Given the description of an element on the screen output the (x, y) to click on. 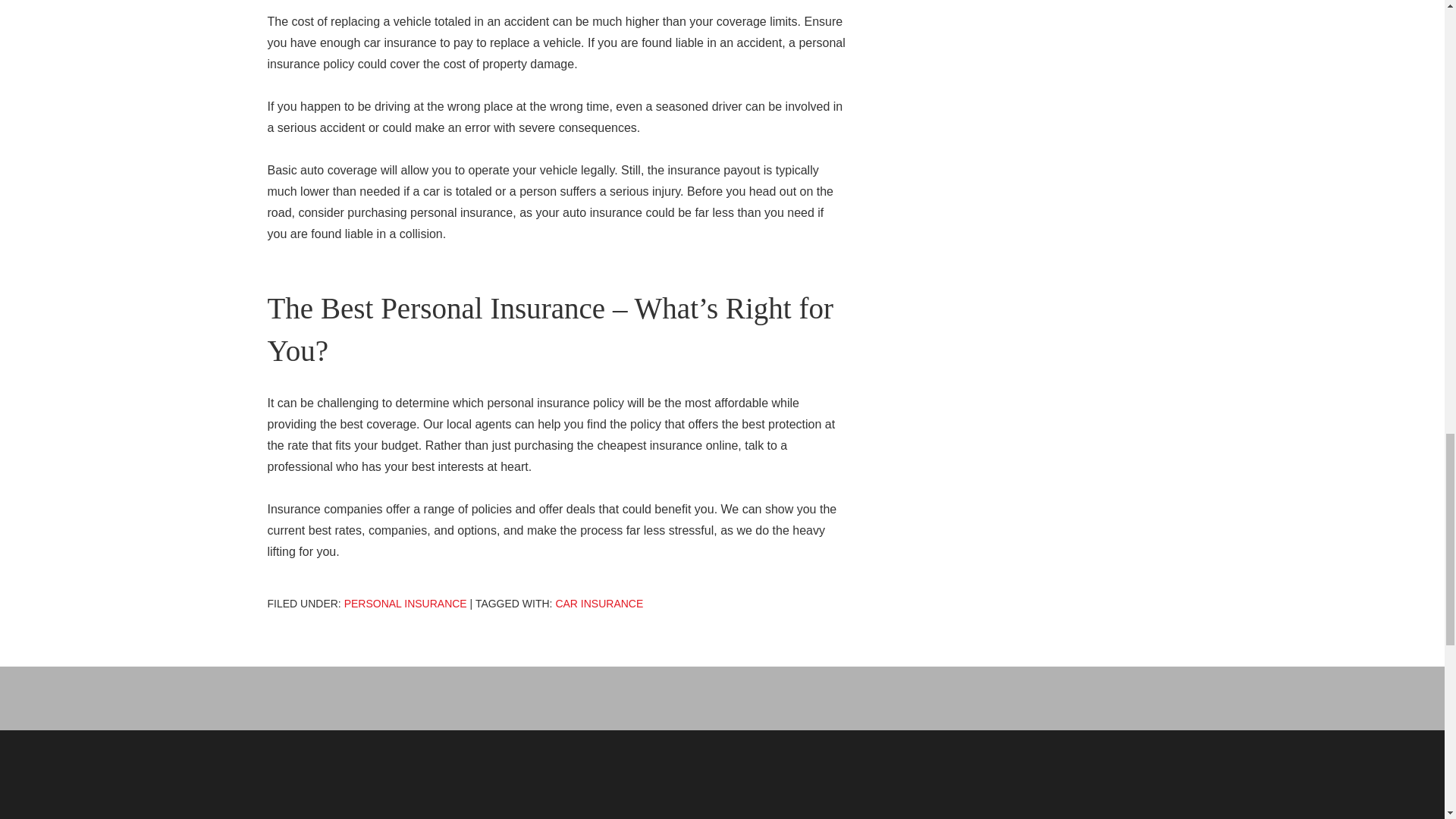
Personal Insurance (405, 603)
Car Insurance (598, 603)
